Given the description of an element on the screen output the (x, y) to click on. 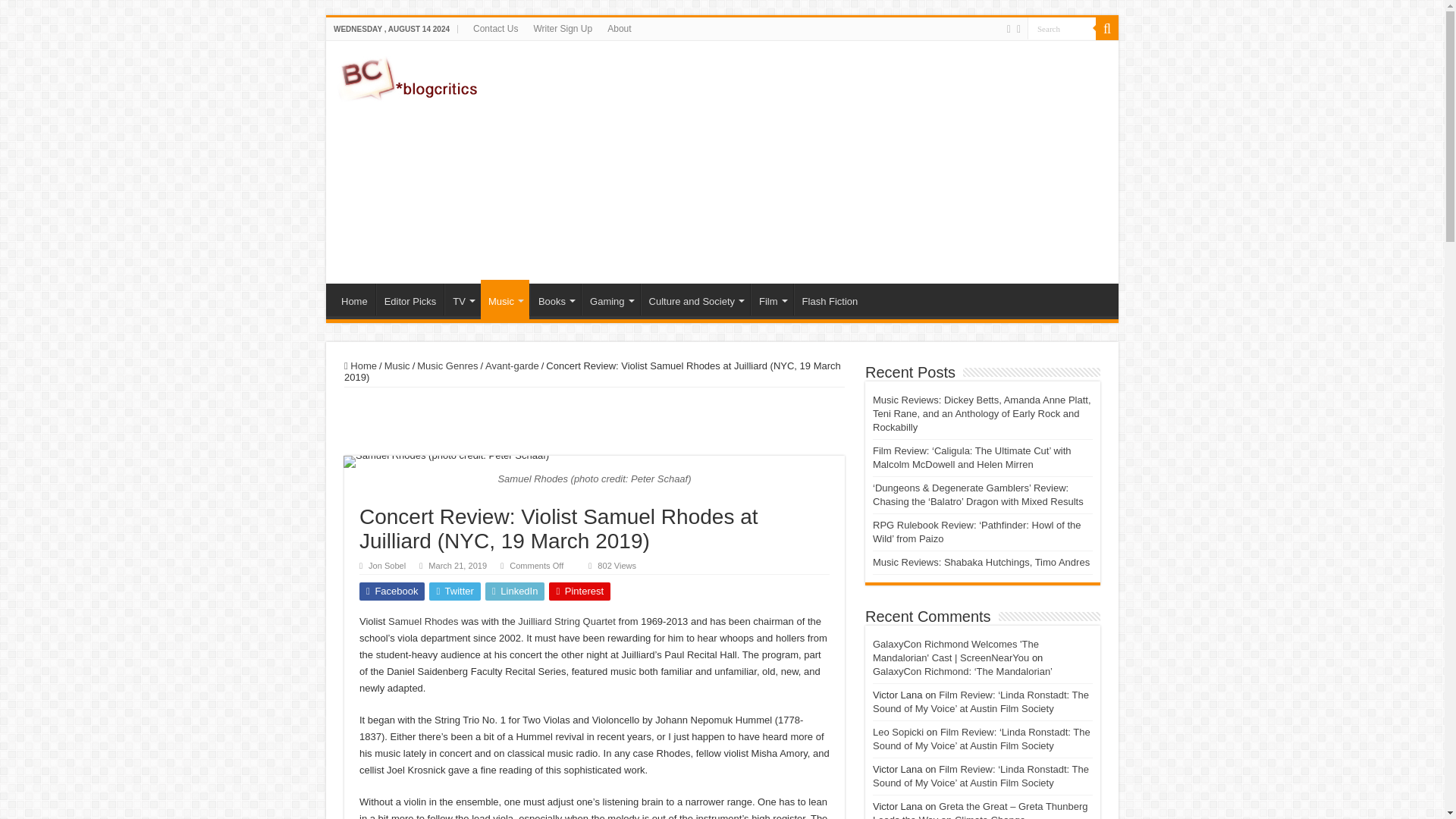
Search (1061, 28)
Search (1061, 28)
Search (1061, 28)
Blogcritics (409, 75)
Advertisement (830, 162)
